Given the description of an element on the screen output the (x, y) to click on. 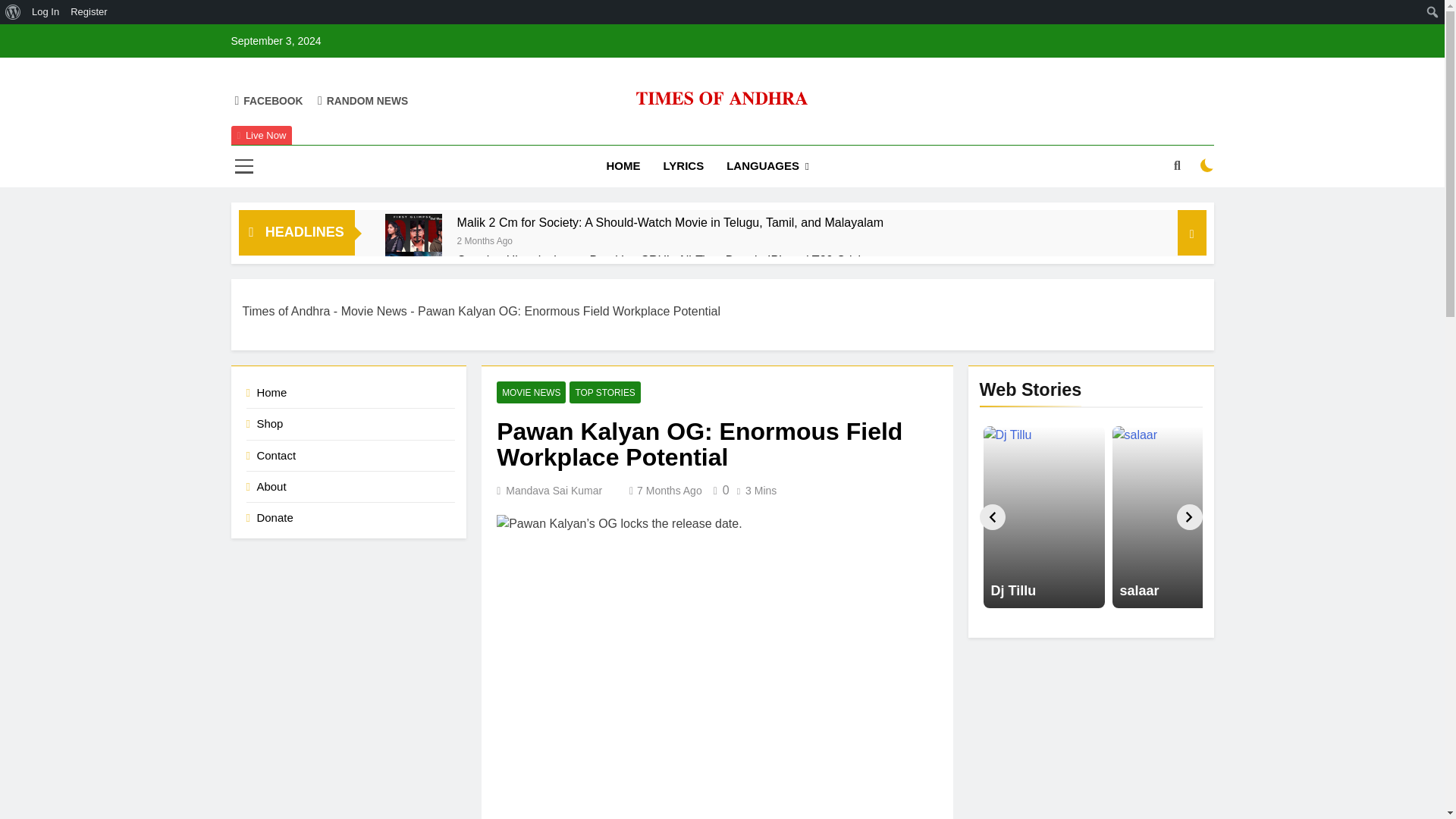
Search (16, 12)
RANDOM NEWS (362, 100)
FACEBOOK (268, 100)
2 Months Ago (484, 239)
LANGUAGES (767, 166)
on (1206, 164)
Register (89, 12)
Log In (45, 12)
